Given the description of an element on the screen output the (x, y) to click on. 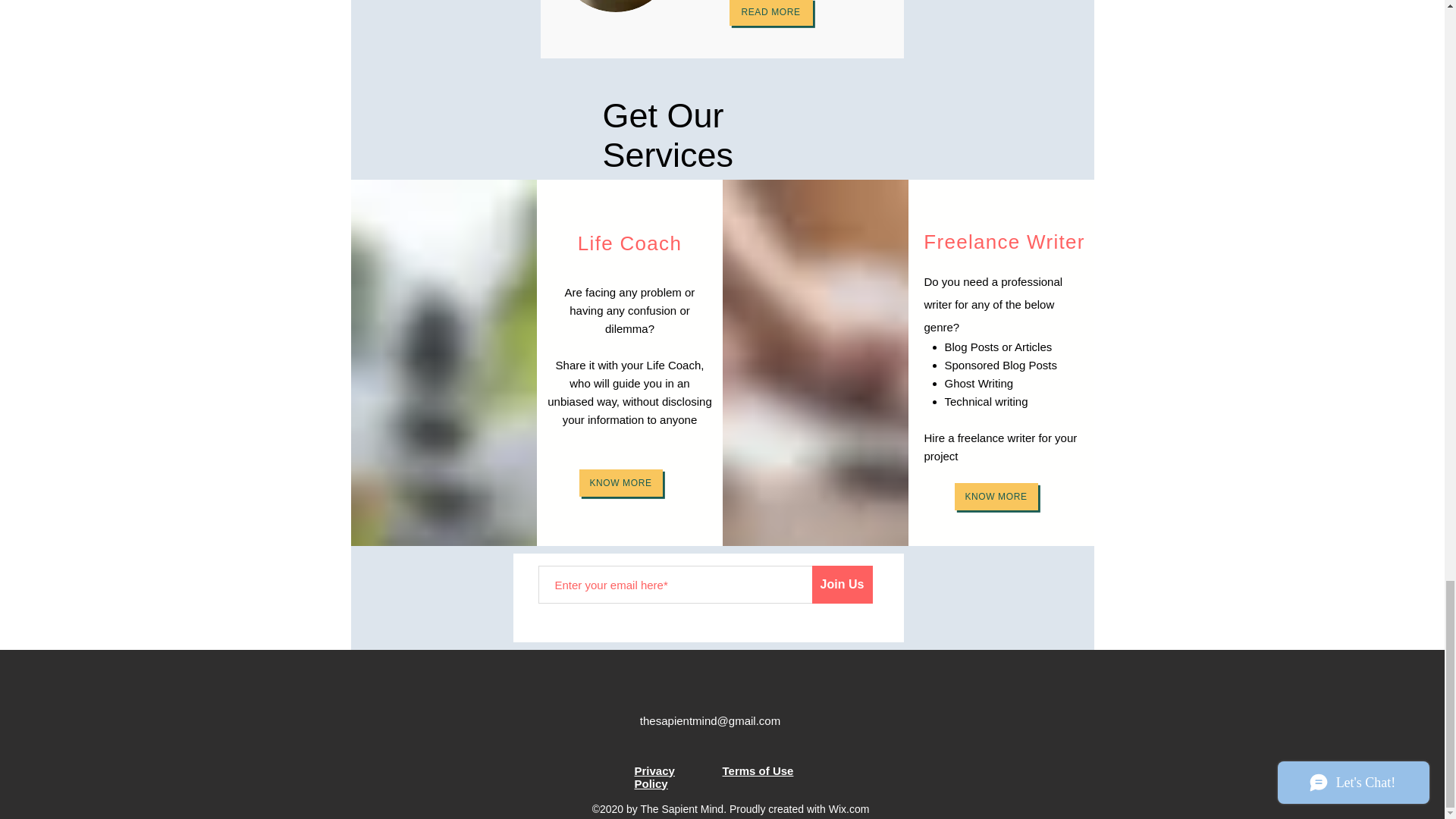
Join Us (841, 584)
KNOW MORE (994, 496)
READ MORE (770, 12)
KNOW MORE (620, 482)
Visitor Analytics (1319, 195)
